Given the description of an element on the screen output the (x, y) to click on. 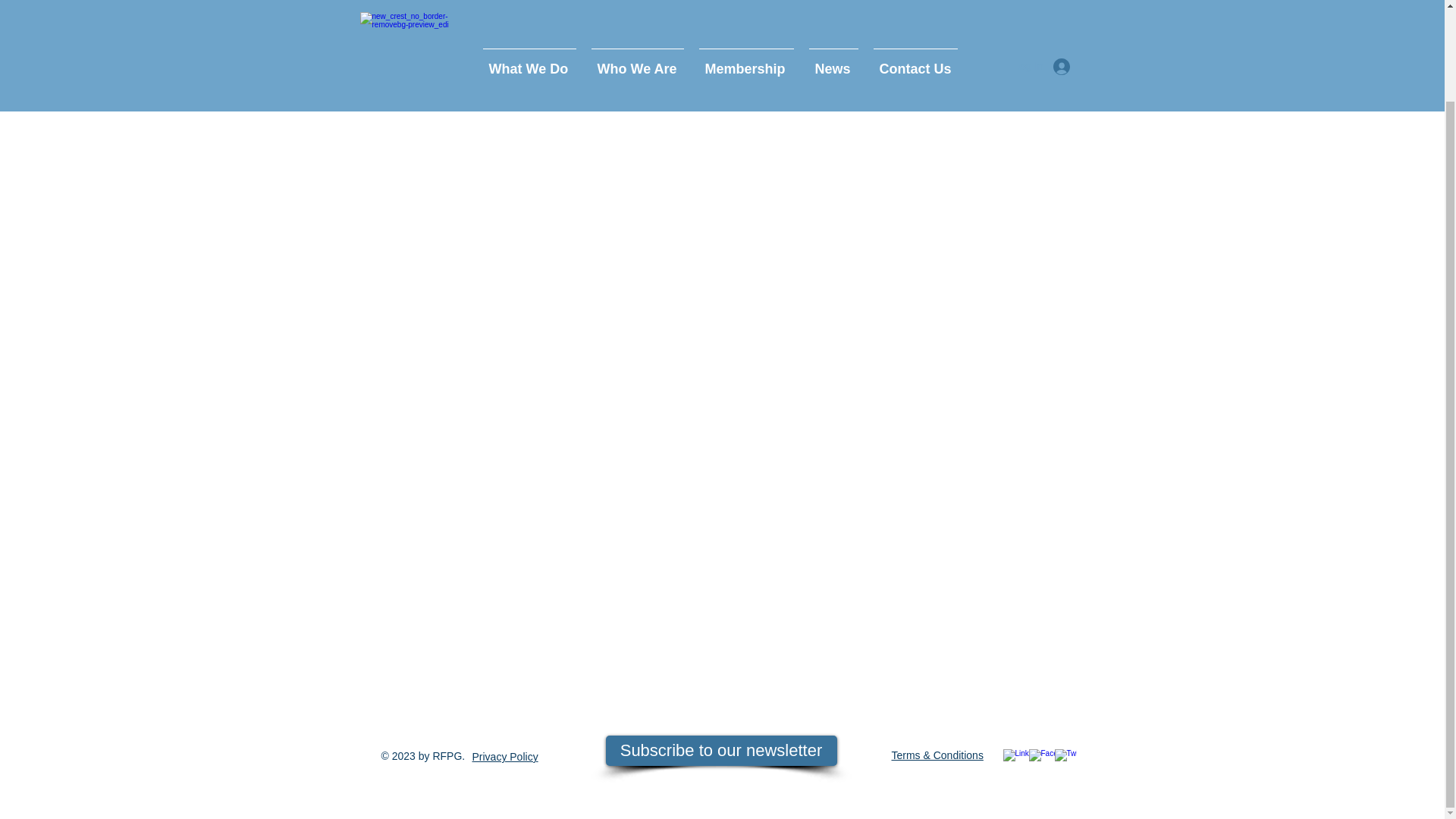
Subscribe to our newsletter (720, 750)
Privacy Policy (504, 756)
